Given the description of an element on the screen output the (x, y) to click on. 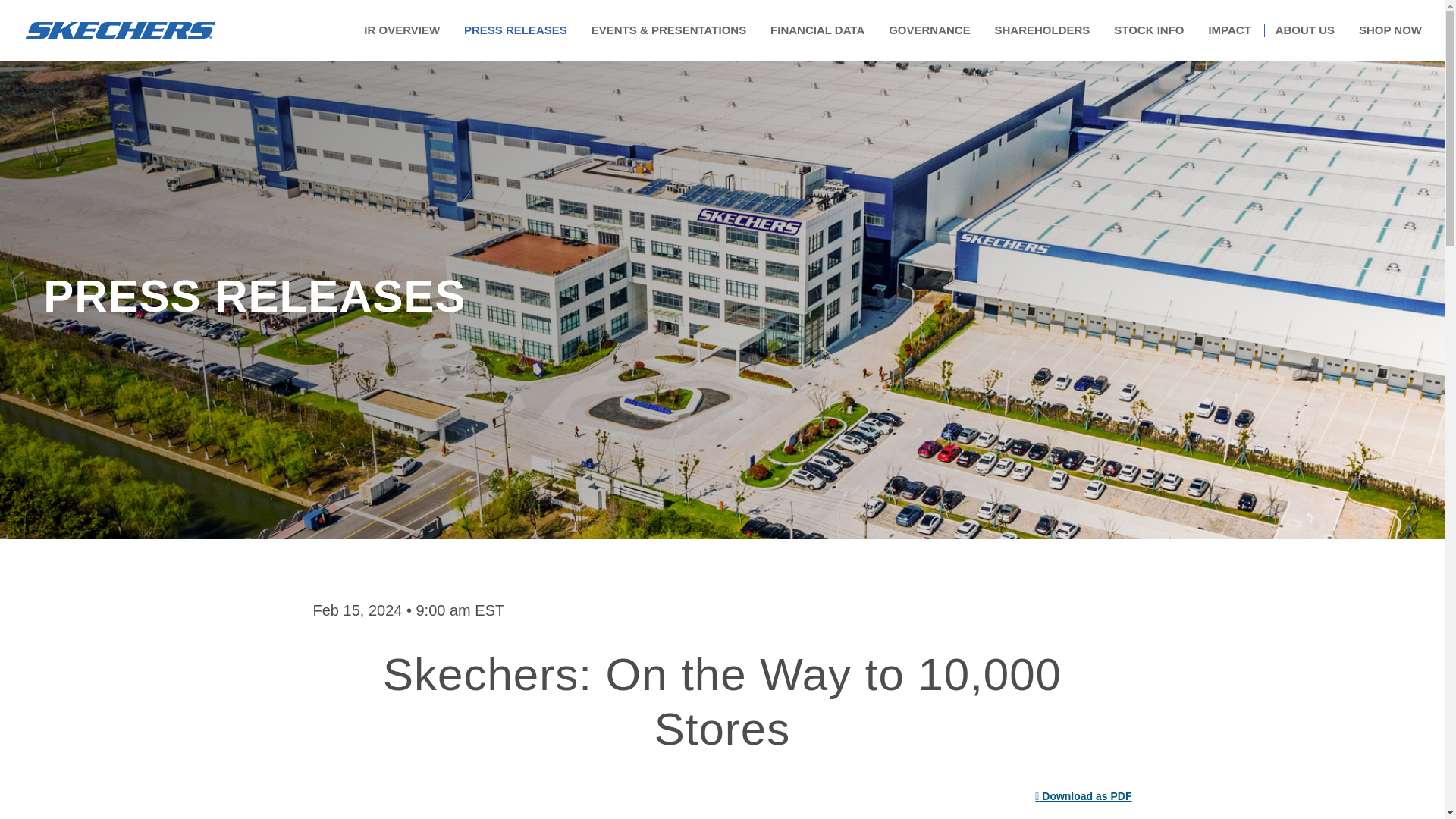
STOCK INFO (1148, 42)
IR OVERVIEW (401, 42)
PDF: Skechers: On the Way to 10,000 Stores (1083, 796)
PRESS RELEASES (515, 42)
FINANCIAL DATA (817, 42)
GOVERNANCE (929, 42)
SHOP NOW (1390, 42)
IMPACT (1229, 42)
ABOUT US (1305, 42)
SHAREHOLDERS (1042, 42)
